Given the description of an element on the screen output the (x, y) to click on. 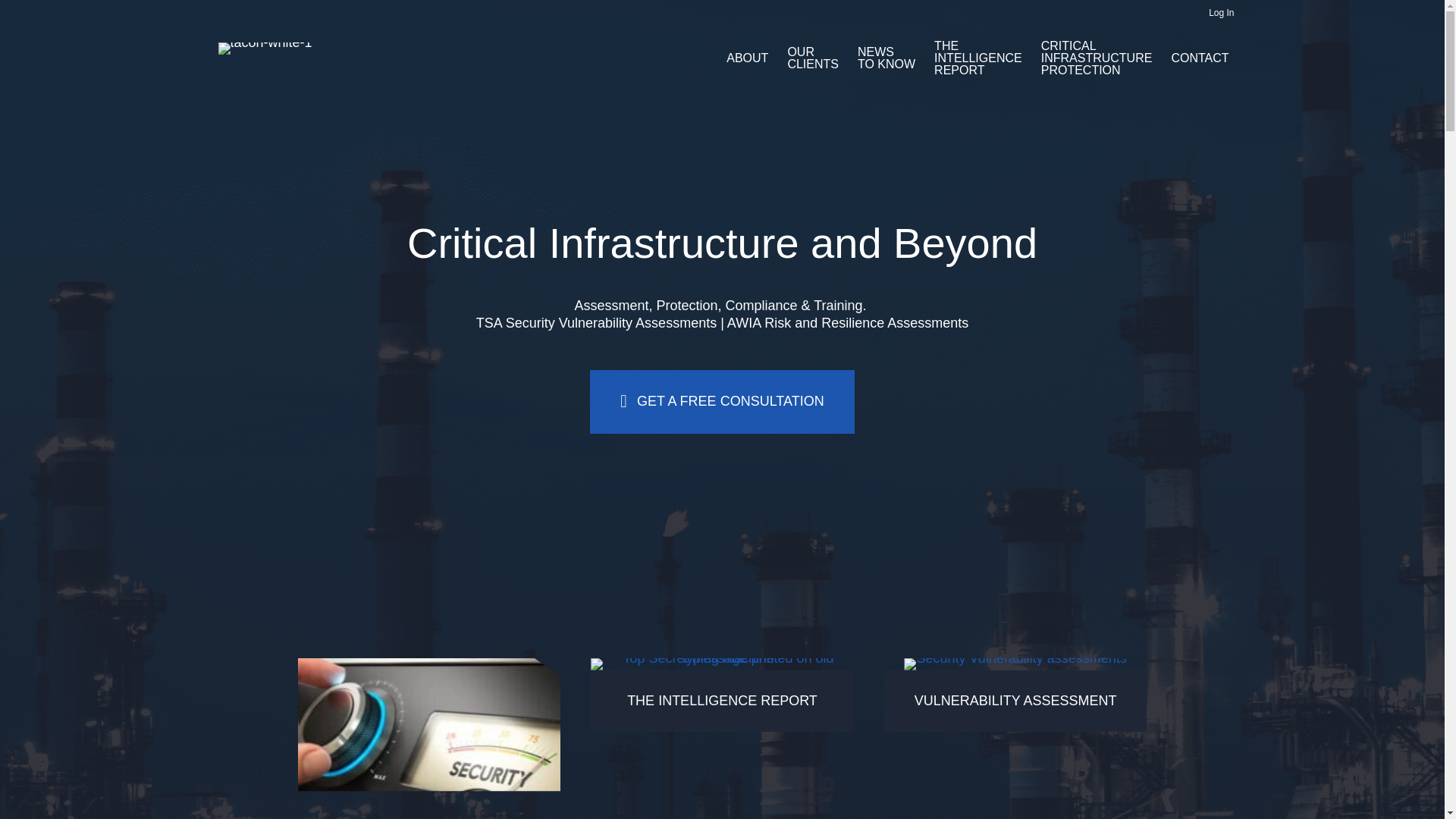
ABOUT (747, 57)
Security (428, 738)
GET A FREE CONSULTATION (721, 401)
tacon-white-1 (265, 48)
CONTACT (1199, 57)
THE INTELLIGENCE REPORT (722, 701)
Security Vulnerability assessments (1014, 664)
